Given the description of an element on the screen output the (x, y) to click on. 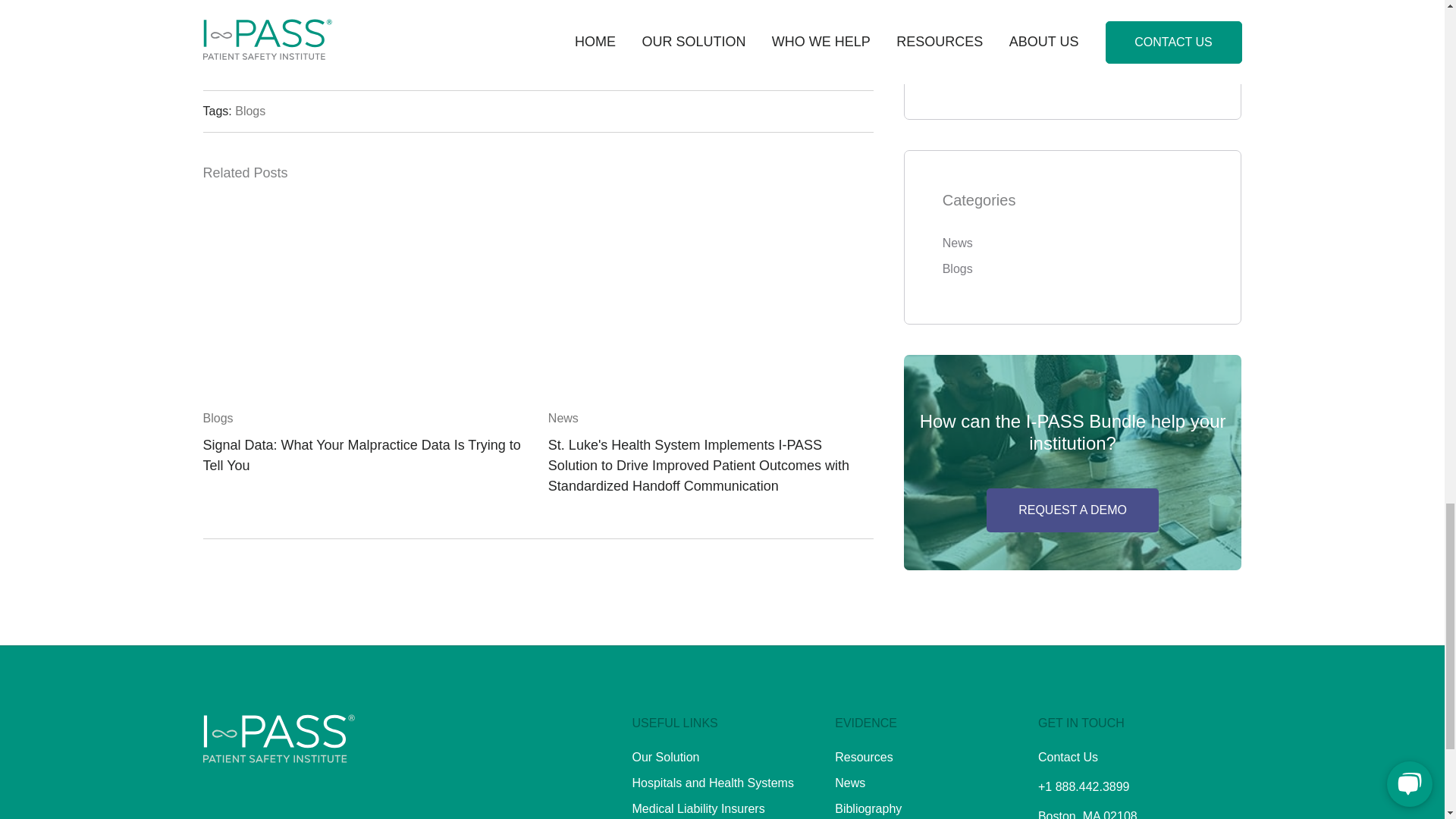
Read the full CGCH case study (287, 6)
Contact Us (1067, 757)
News (849, 782)
Resources (863, 757)
Our Solution (665, 757)
Medical Liability Insurers (698, 808)
Blogs (249, 110)
Bibliography (867, 808)
Hospitals and Health Systems (712, 782)
